Given the description of an element on the screen output the (x, y) to click on. 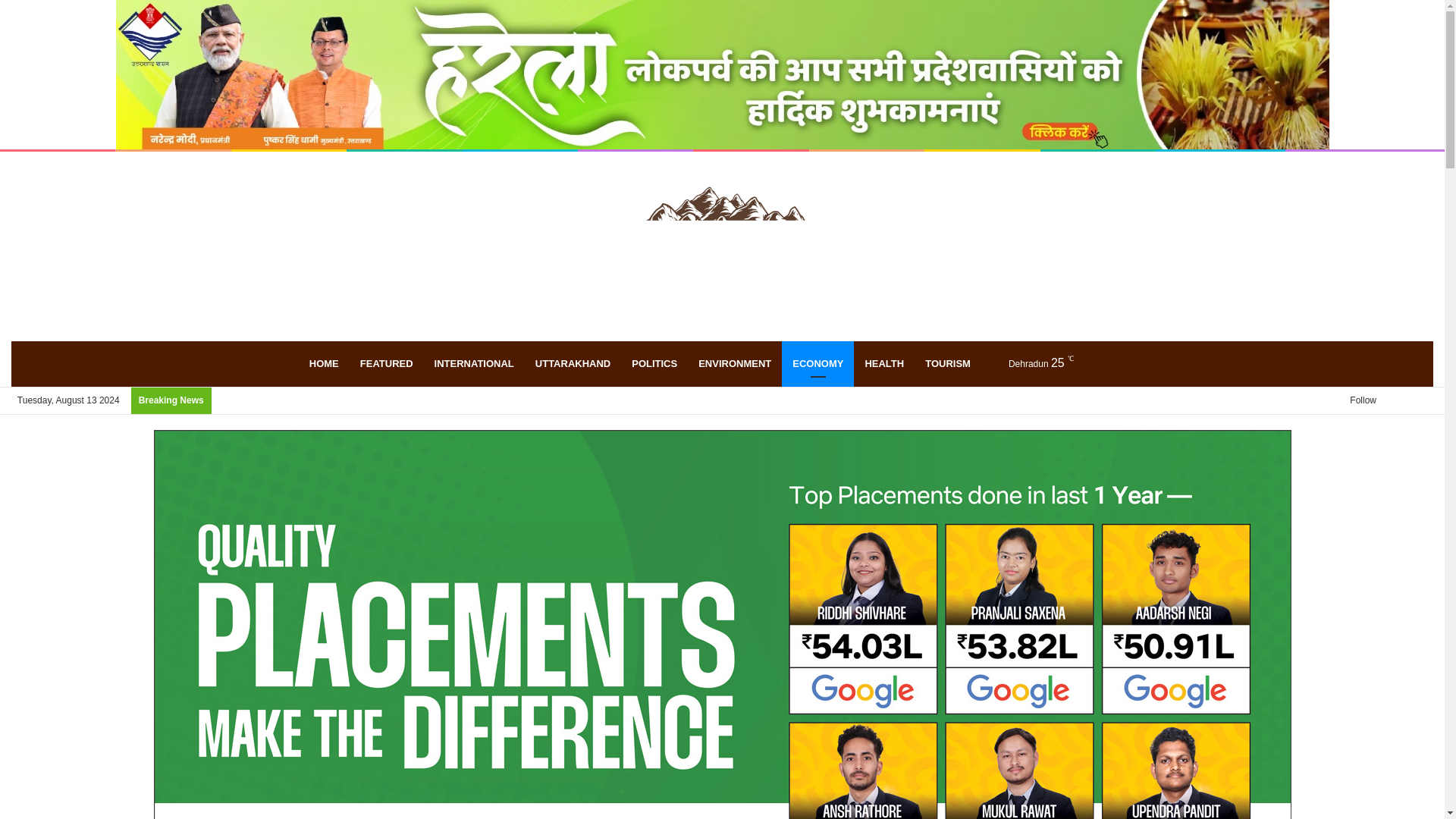
UTTARAKHAND (572, 363)
Northern Gazette (721, 246)
HOME (323, 363)
POLITICS (654, 363)
Follow (1358, 400)
ECONOMY (817, 363)
HEALTH (883, 363)
ENVIRONMENT (734, 363)
FEATURED (386, 363)
Scattered Clouds (1027, 363)
